Given the description of an element on the screen output the (x, y) to click on. 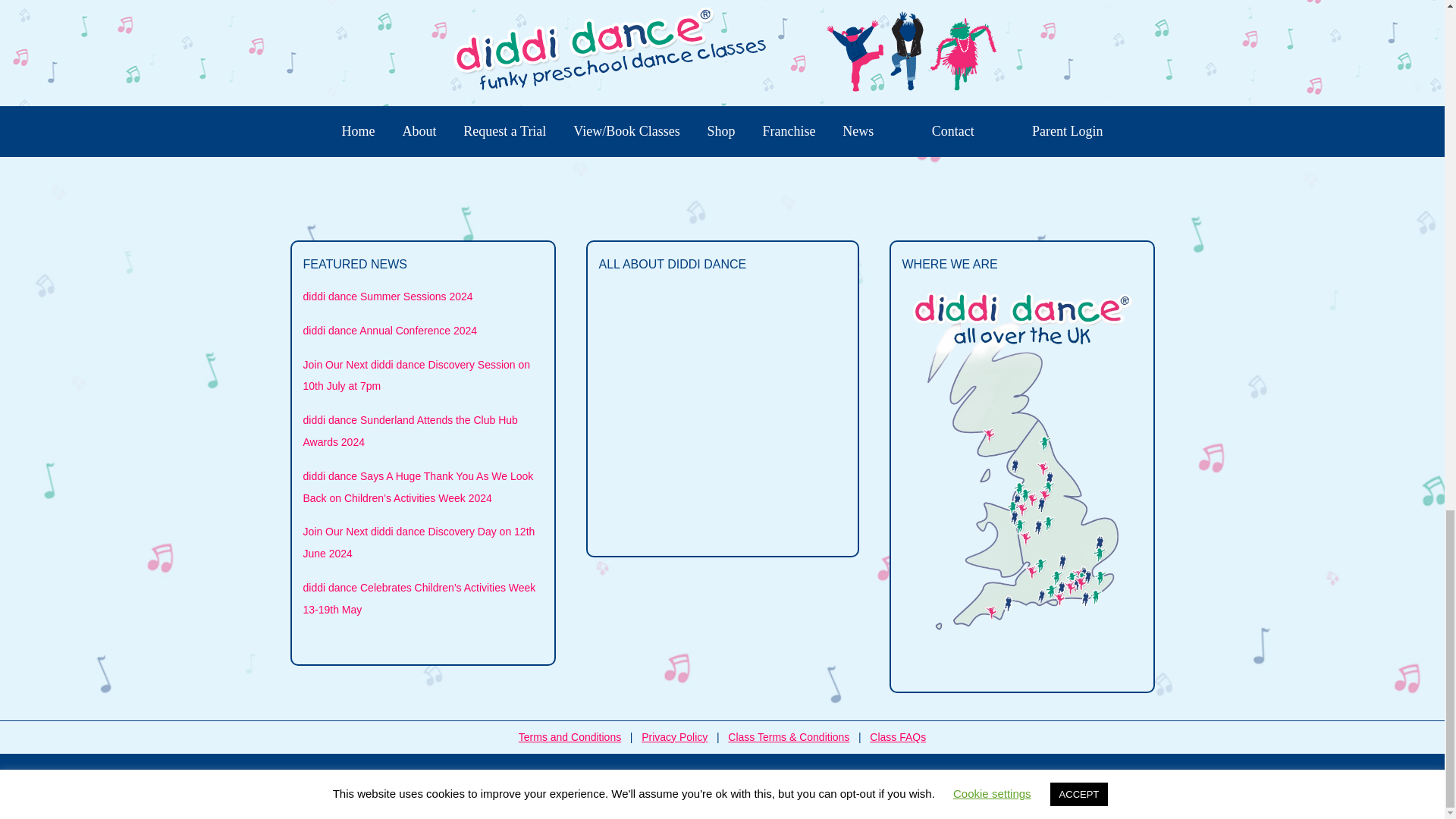
Get children moving! (711, 39)
Classes (452, 39)
diddi dance Summer Sessions 2024 (387, 296)
Franchising (629, 39)
Local News (794, 39)
diddi dance Sunderland Attends the Club Hub Awards 2024 (410, 430)
Celebrate (405, 39)
Featured (408, 56)
diddi dance Annual Conference 2024 (389, 330)
